Given the description of an element on the screen output the (x, y) to click on. 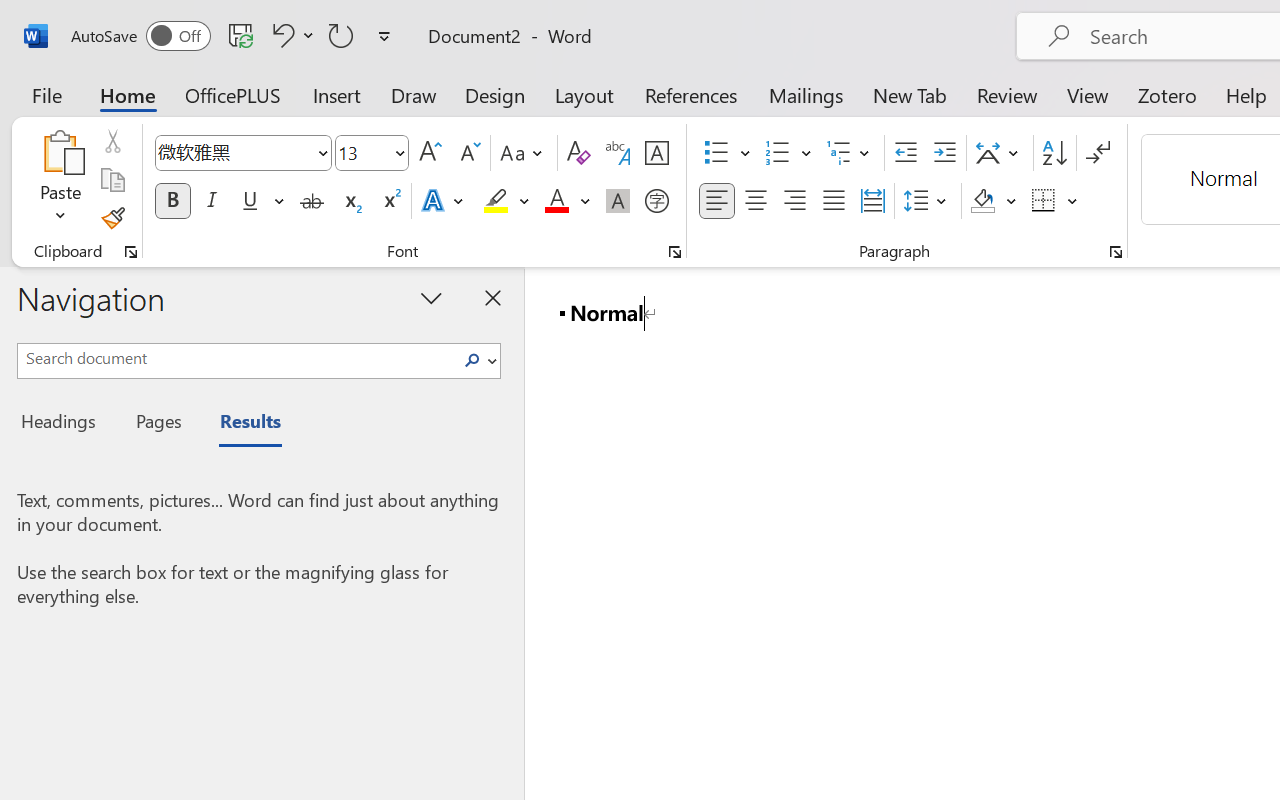
Format Painter (112, 218)
Review (1007, 94)
Shading (993, 201)
Home (127, 94)
Layout (584, 94)
Decrease Indent (906, 153)
Change Case (524, 153)
Open (399, 152)
Copy (112, 179)
Undo <ApplyStyleToDoc>b__0 (290, 35)
